Given the description of an element on the screen output the (x, y) to click on. 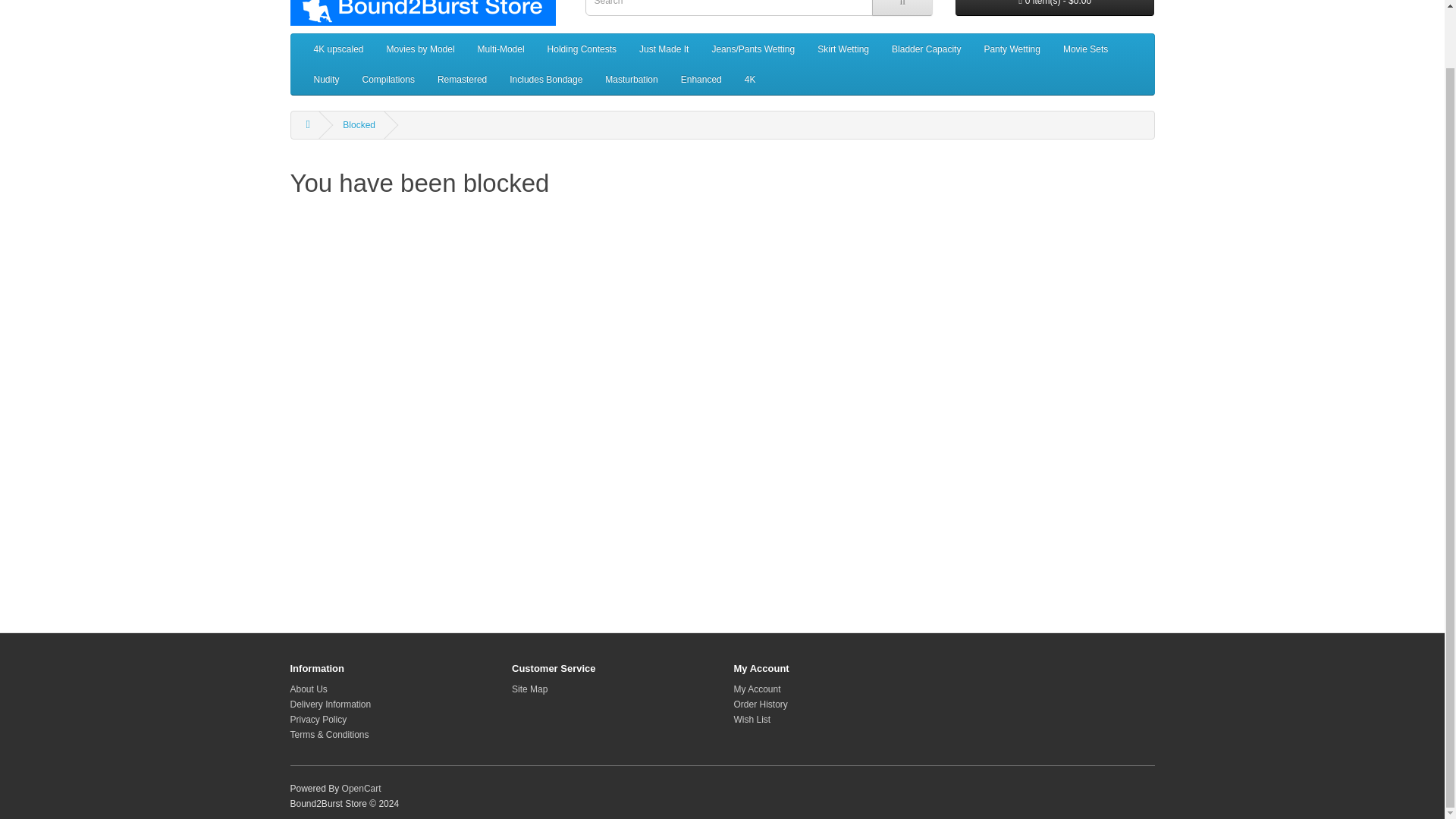
4K upscaled (337, 49)
Movies by Model (420, 49)
Bound2Burst Store (421, 12)
